Given the description of an element on the screen output the (x, y) to click on. 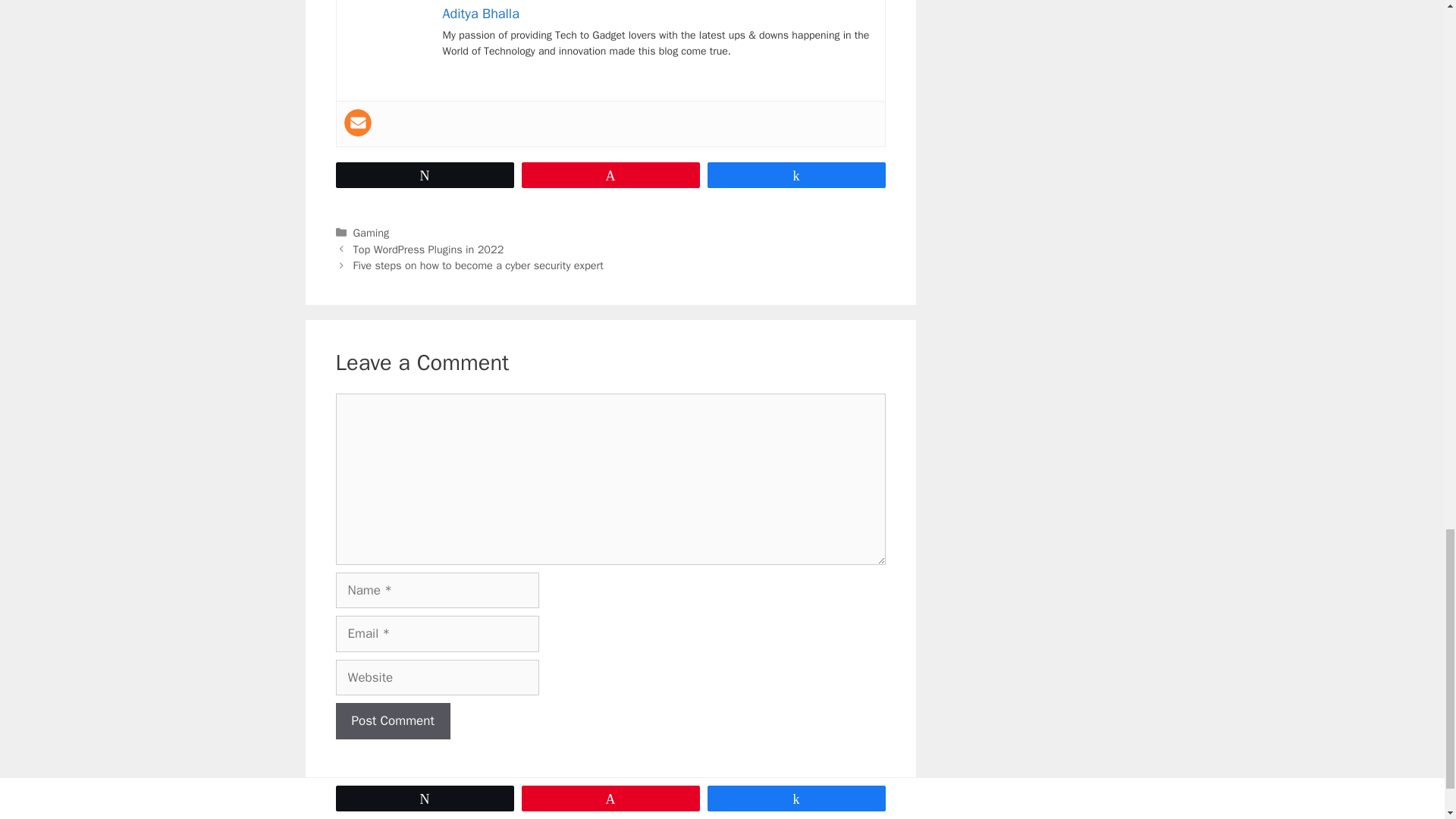
Post Comment (391, 720)
User email (357, 122)
